Given the description of an element on the screen output the (x, y) to click on. 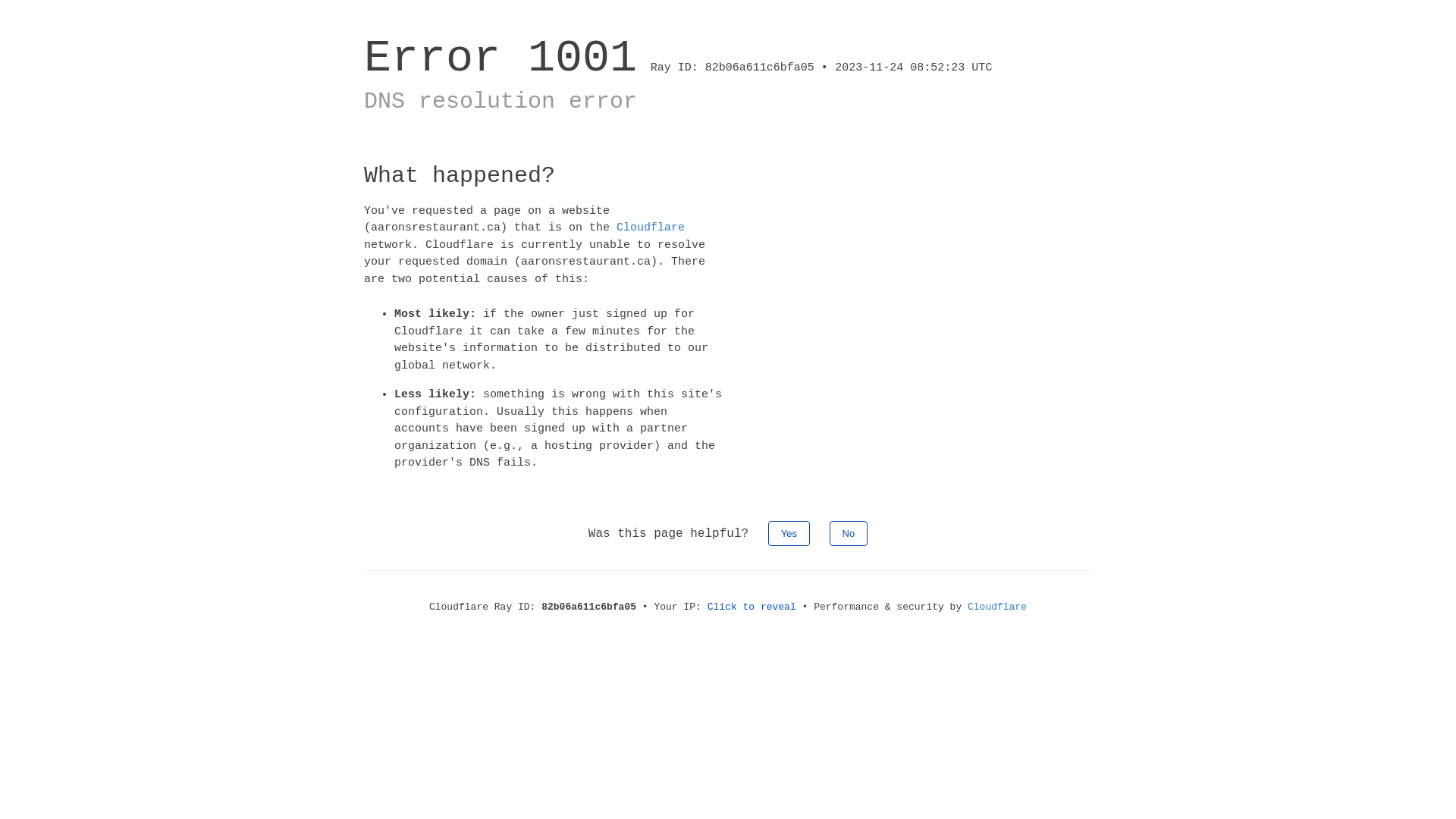
Cloudflare Element type: text (996, 605)
Click to reveal Element type: text (751, 605)
Yes Element type: text (788, 532)
No Element type: text (848, 532)
Cloudflare Element type: text (650, 227)
